Given the description of an element on the screen output the (x, y) to click on. 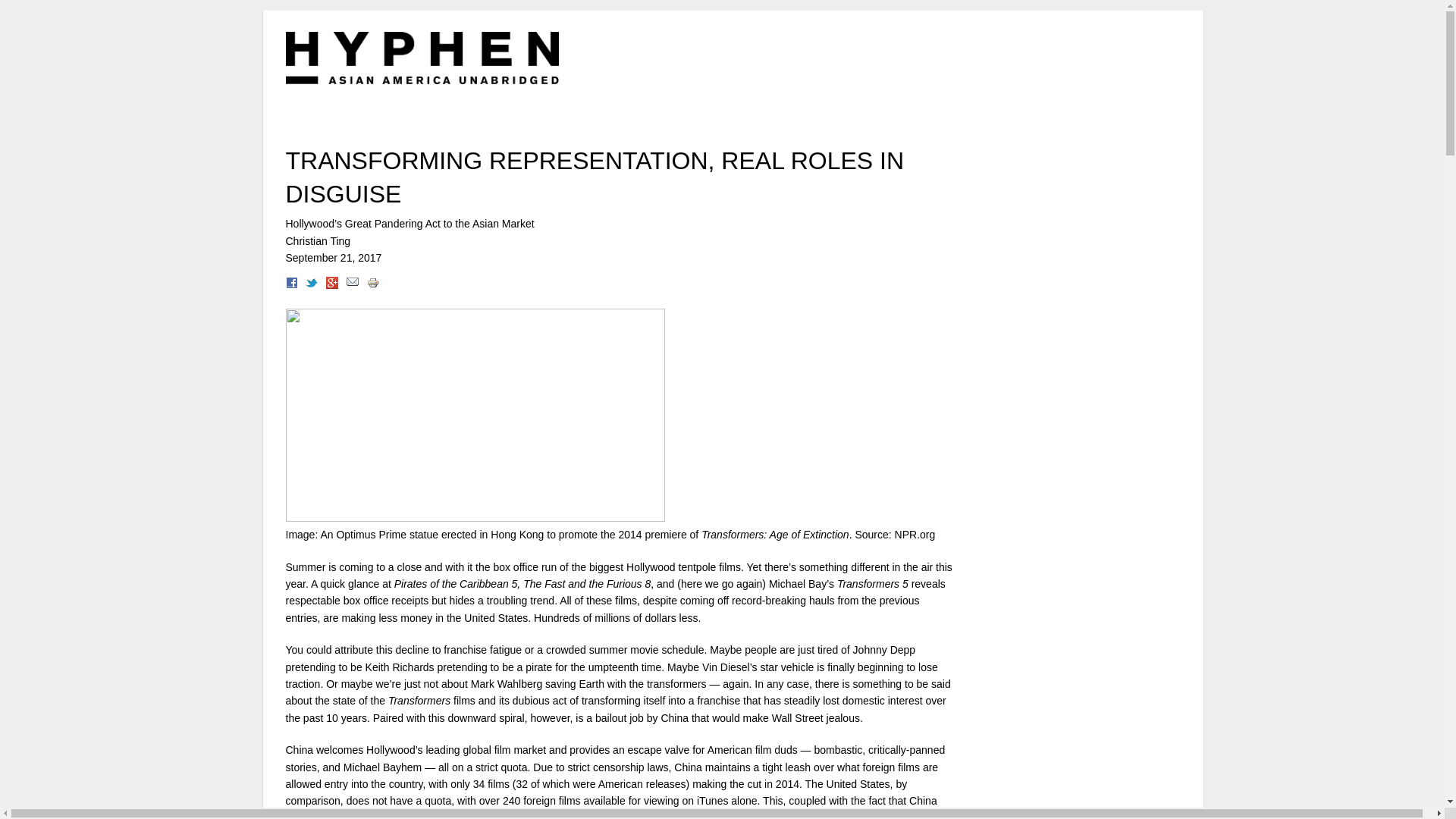
Christian Ting (317, 241)
An Optimus Prime statue in Hong Kong (474, 414)
Share on Facebook (291, 285)
Share this on Twitter (311, 285)
Hyphen (421, 57)
Send to a friend (352, 285)
Printable version (372, 285)
